Given the description of an element on the screen output the (x, y) to click on. 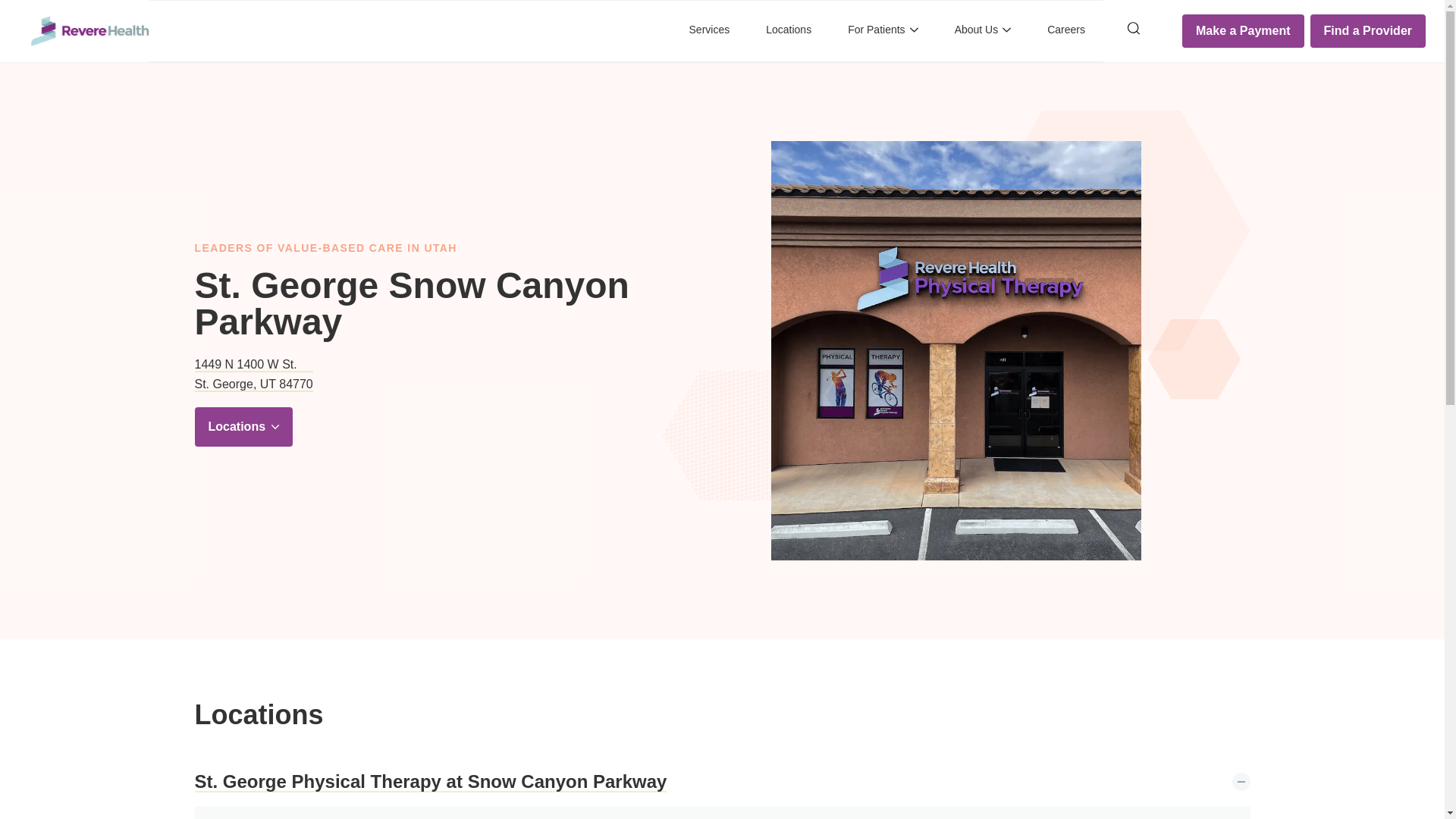
About Us (983, 30)
Find a Provider (253, 375)
Make a Payment (1367, 30)
St. George Physical Therapy at Snow Canyon Parkway (1243, 30)
For Patients (429, 782)
Locations (882, 30)
